Given the description of an element on the screen output the (x, y) to click on. 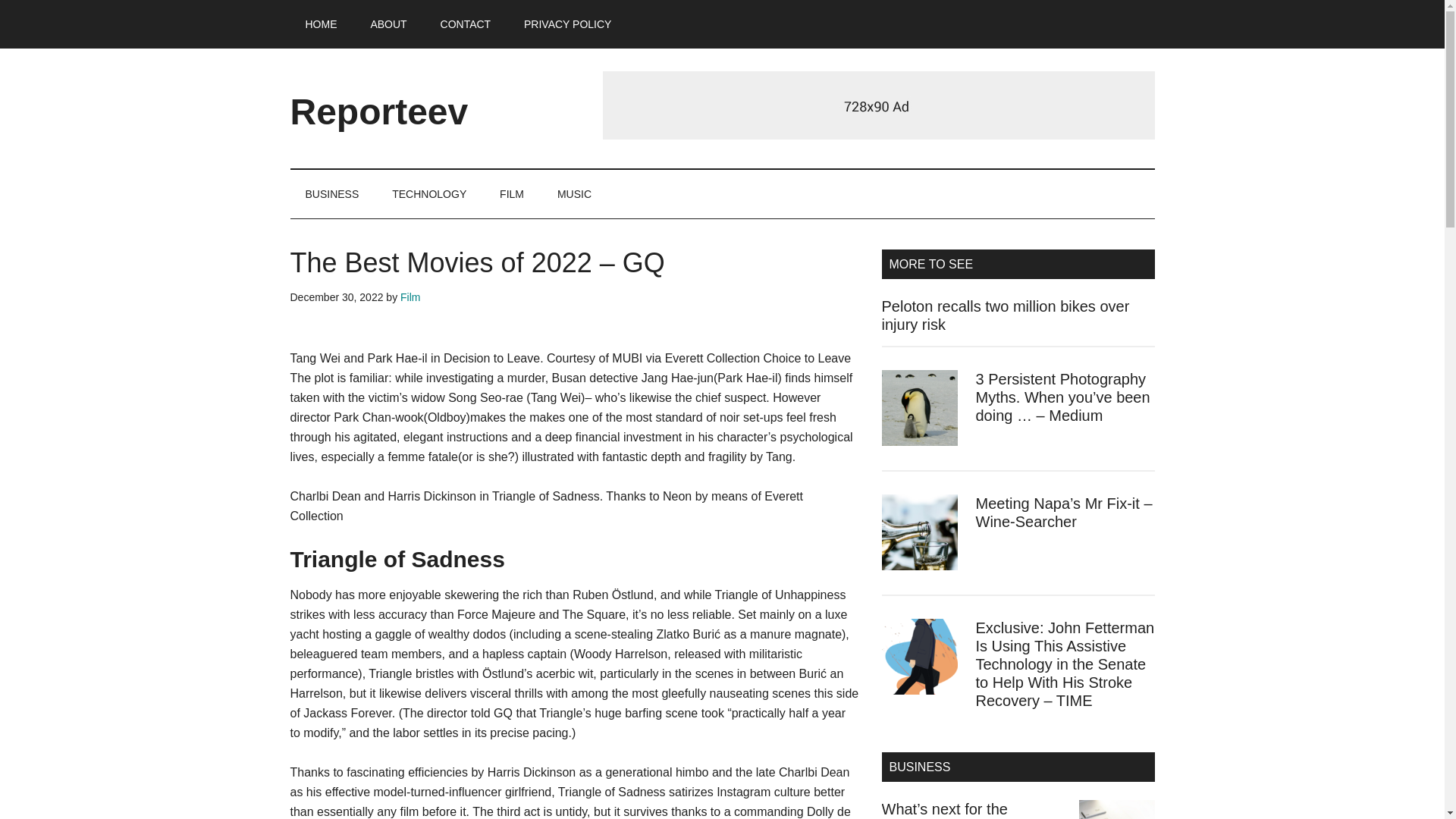
HOME (320, 24)
Film (410, 297)
PRIVACY POLICY (567, 24)
FILM (511, 193)
Peloton recalls two million bikes over injury risk (1004, 315)
ABOUT (388, 24)
TECHNOLOGY (429, 193)
BUSINESS (331, 193)
CONTACT (465, 24)
